Given the description of an element on the screen output the (x, y) to click on. 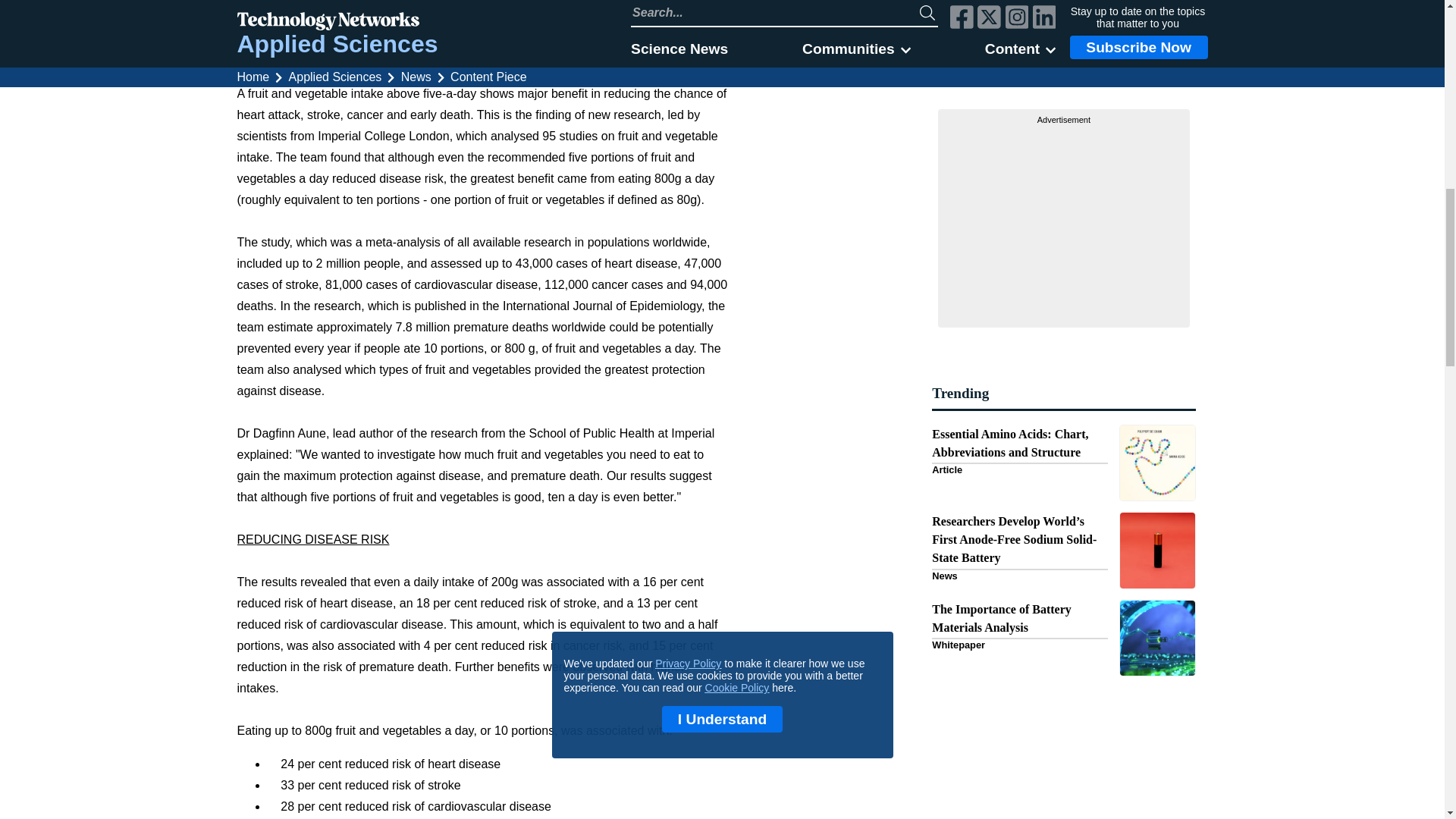
Click to view "The Importance of Battery Materials Analysis" (1063, 637)
